Given the description of an element on the screen output the (x, y) to click on. 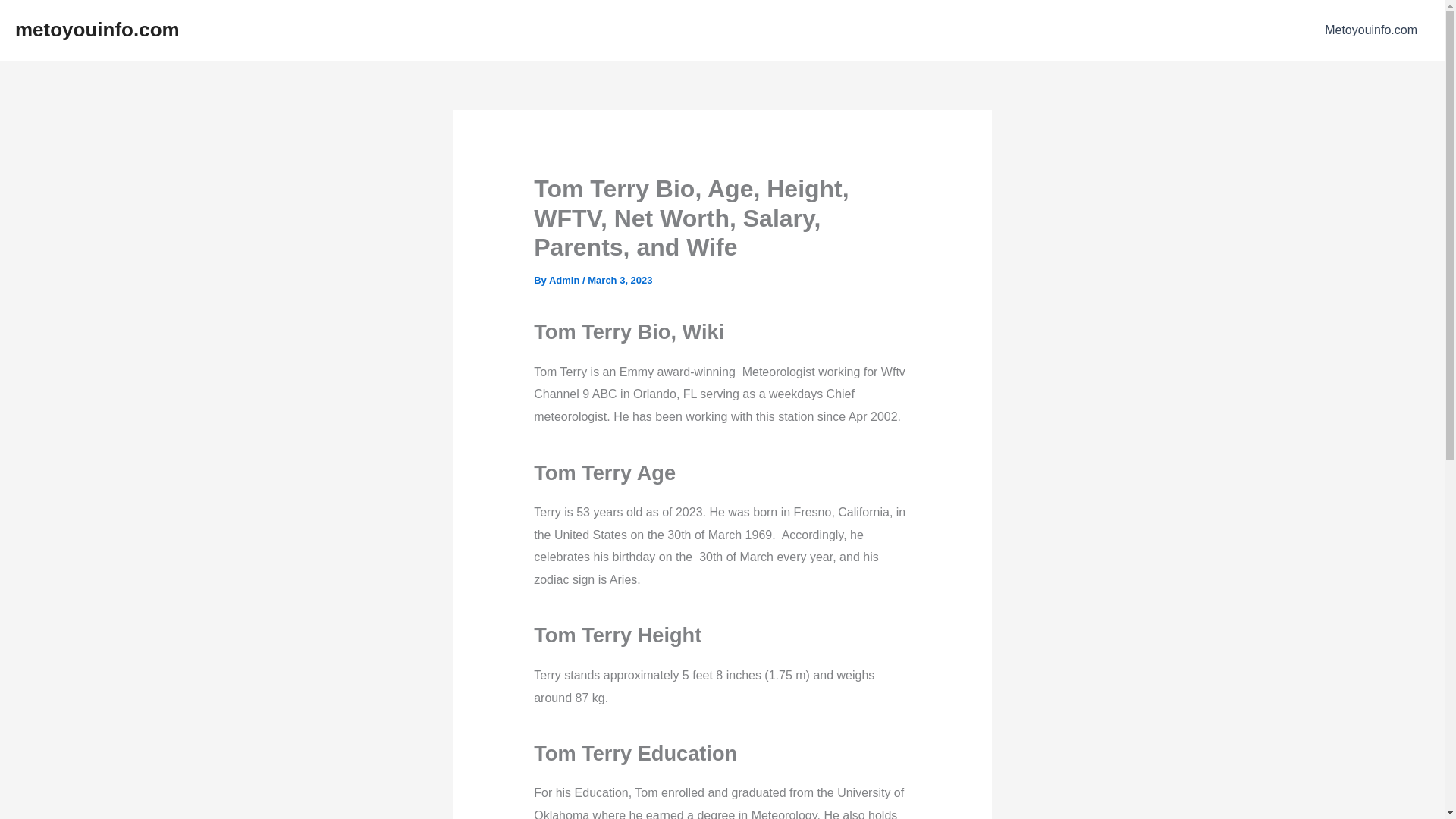
Admin (565, 279)
metoyouinfo.com (96, 29)
Metoyouinfo.com (1371, 30)
View all posts by Admin (565, 279)
